Given the description of an element on the screen output the (x, y) to click on. 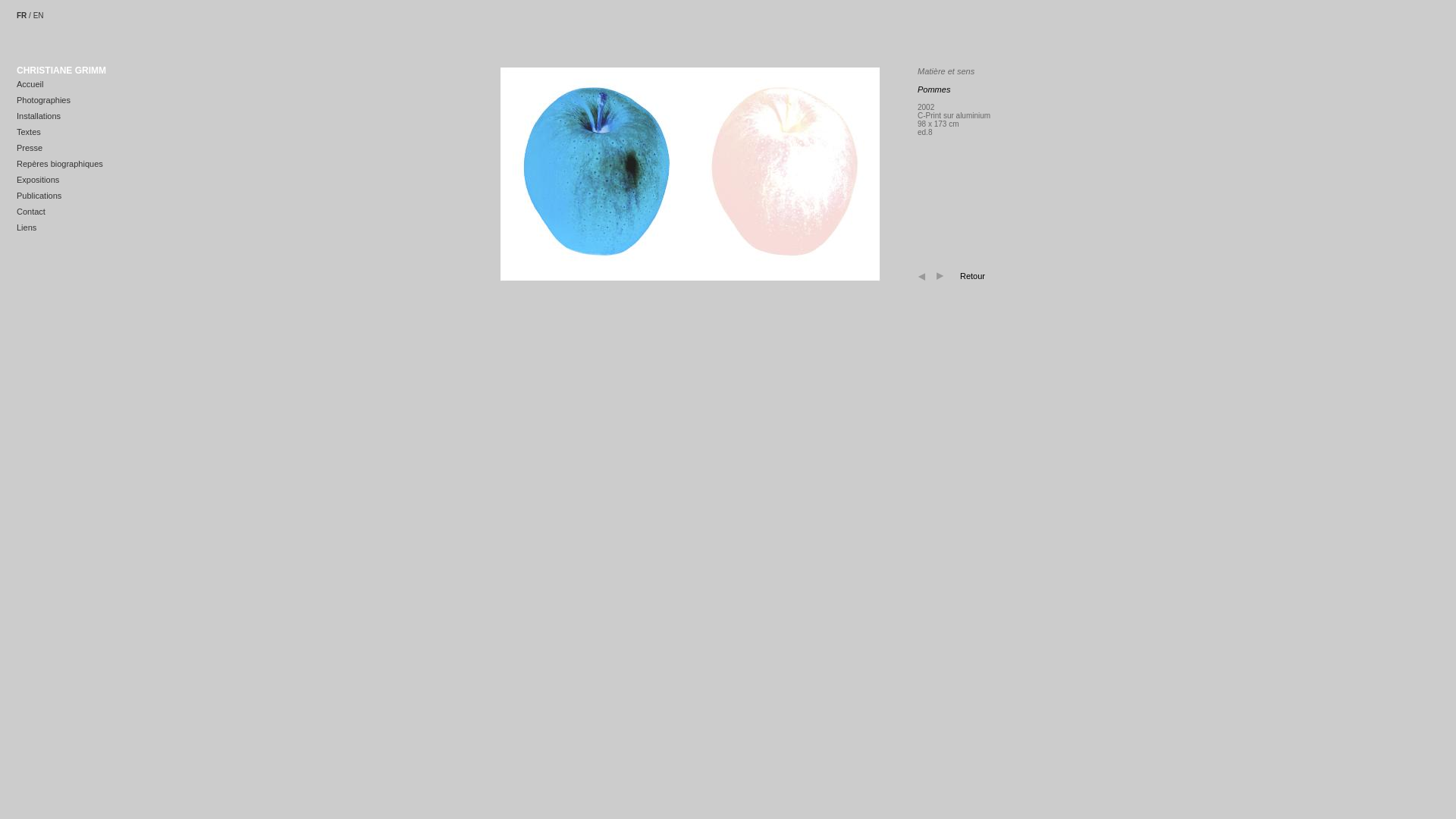
Accueil Element type: text (29, 83)
Presse Element type: text (29, 147)
Photographies Element type: text (43, 99)
Textes Element type: text (28, 131)
Liens Element type: text (26, 227)
Contact Element type: text (30, 211)
Installations Element type: text (38, 115)
Retour Element type: text (972, 276)
Expositions Element type: text (37, 179)
Publications Element type: text (38, 195)
